Given the description of an element on the screen output the (x, y) to click on. 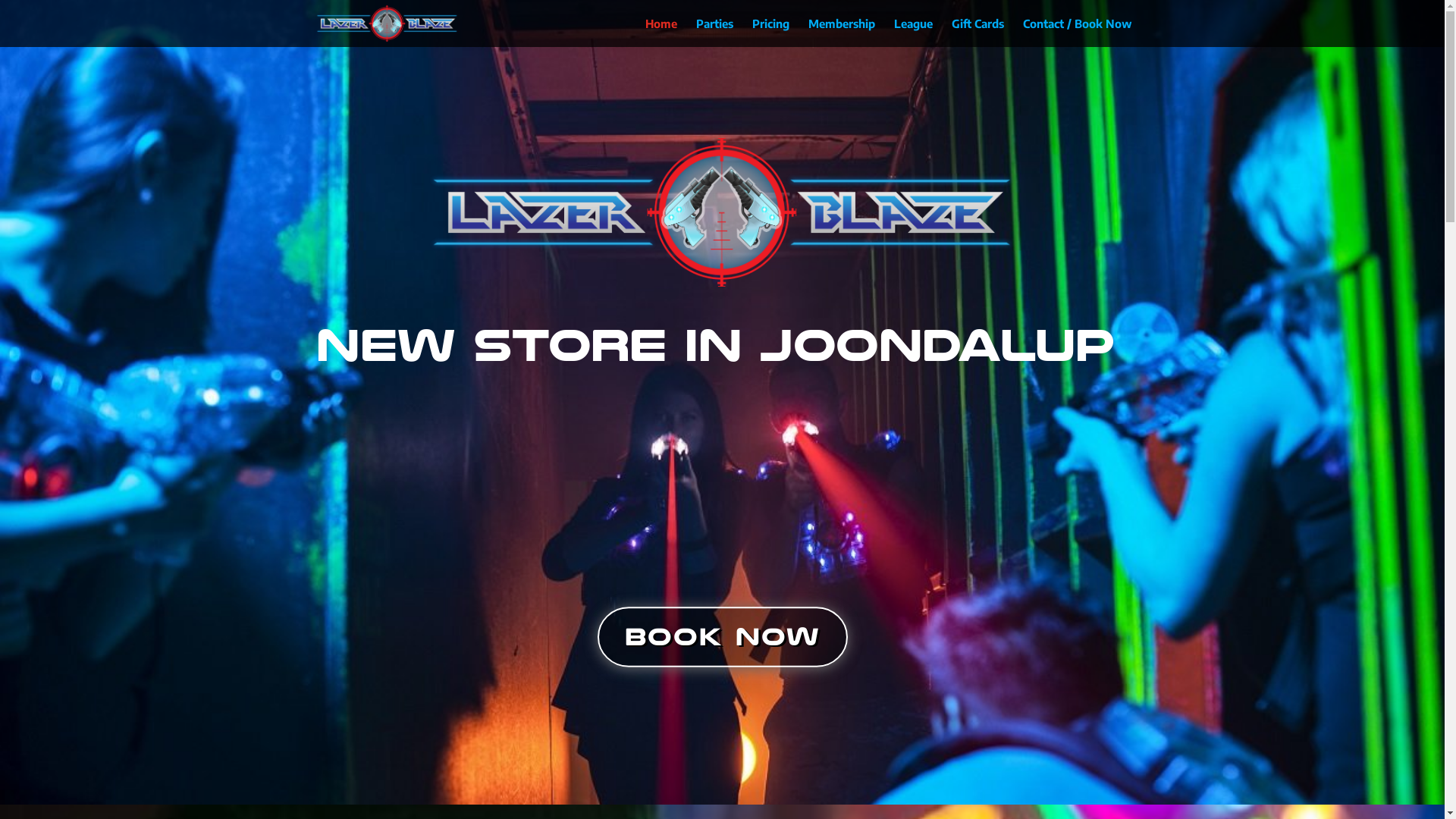
Contact / Book Now Element type: text (1076, 32)
Home Element type: text (660, 32)
BOOK NOW Element type: text (722, 637)
lazerblaze-v1web Element type: hover (722, 212)
Membership Element type: text (841, 32)
Gift Cards Element type: text (976, 32)
Pricing Element type: text (770, 32)
League Element type: text (912, 32)
Parties Element type: text (714, 32)
